Given the description of an element on the screen output the (x, y) to click on. 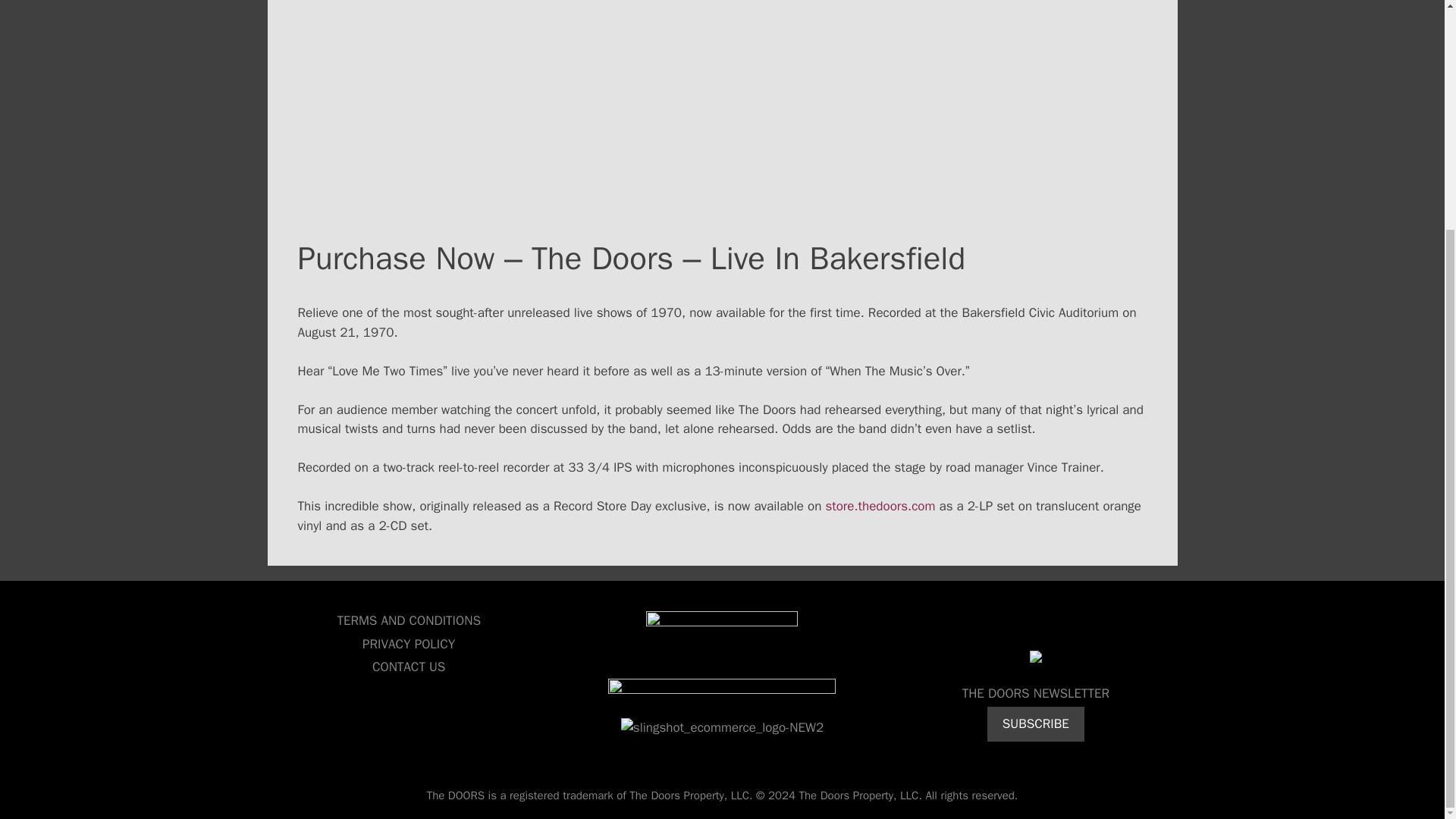
PRIVACY POLICY (408, 643)
store.thedoors.com (882, 505)
TERMS AND CONDITIONS (408, 620)
CONTACT US (408, 666)
SUBSCRIBE (1035, 724)
